Given the description of an element on the screen output the (x, y) to click on. 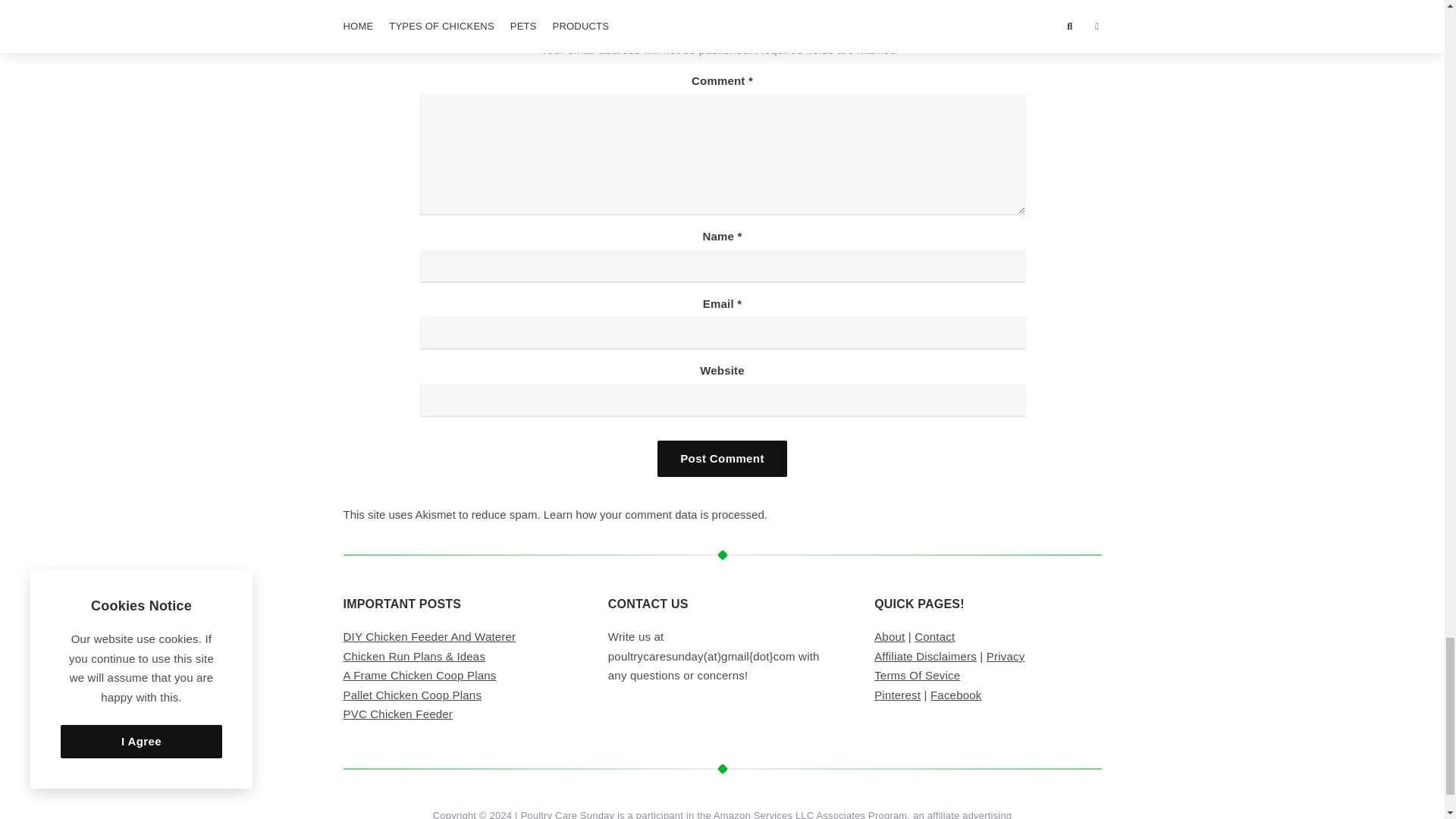
Post comment (722, 458)
